Given the description of an element on the screen output the (x, y) to click on. 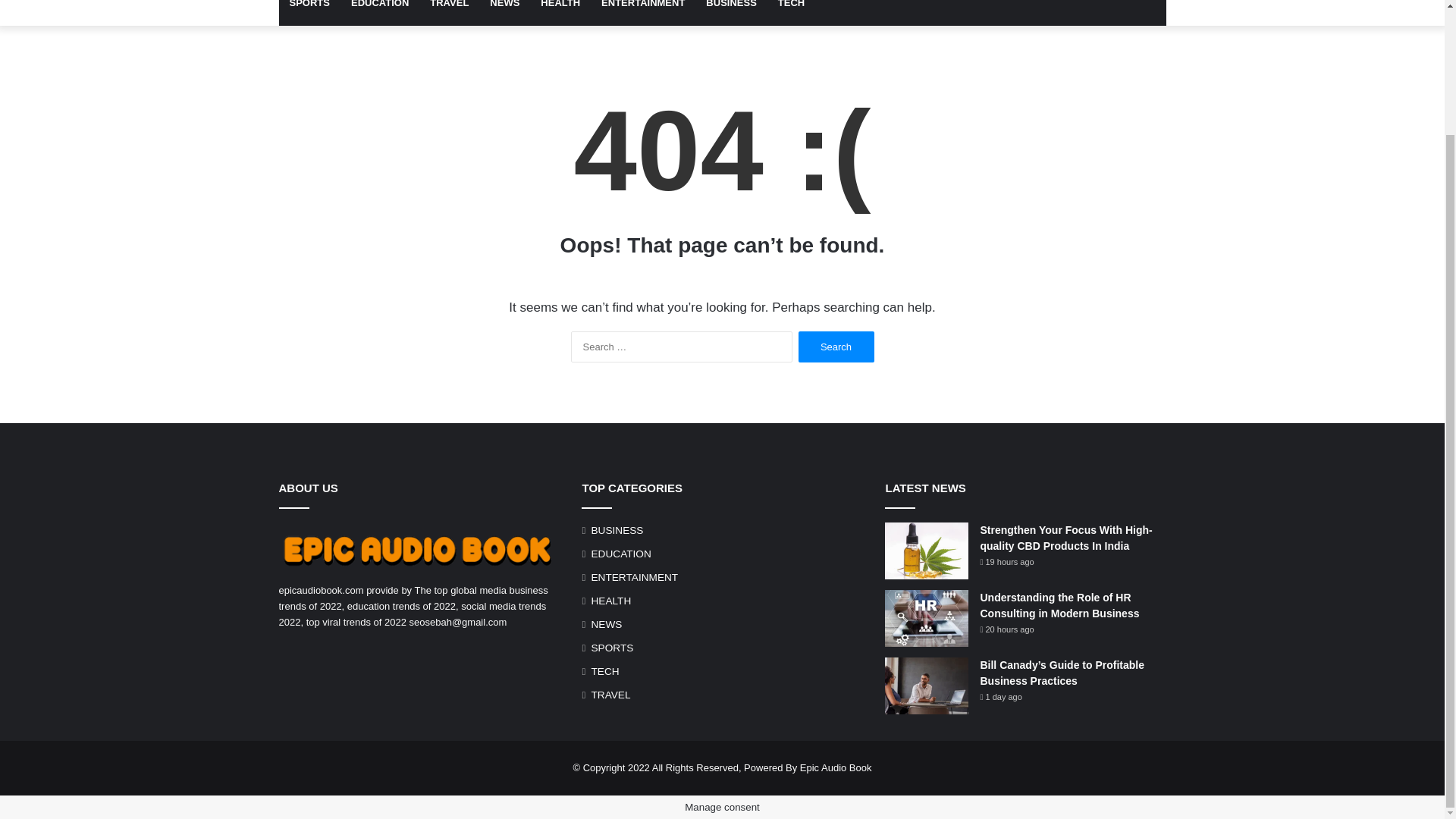
BUSINESS (617, 530)
TRAVEL (449, 12)
ENTERTAINMENT (634, 577)
TRAVEL (610, 694)
HEALTH (610, 600)
Search (835, 346)
ENTERTAINMENT (643, 12)
SPORTS (612, 647)
EDUCATION (620, 553)
SPORTS (309, 12)
HEALTH (560, 12)
EDUCATION (379, 12)
Search (835, 346)
NEWS (606, 624)
